Given the description of an element on the screen output the (x, y) to click on. 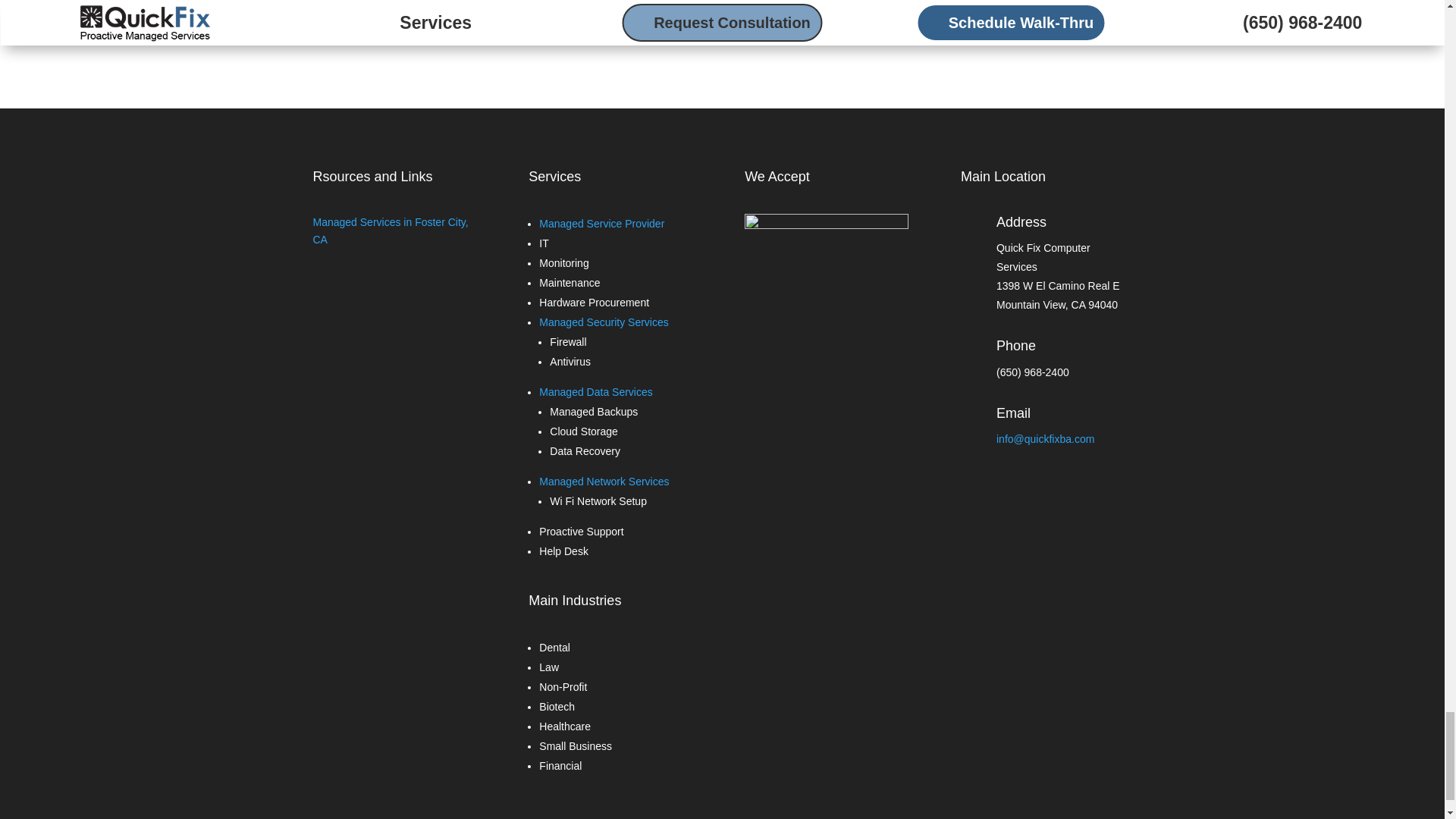
Managed Services in Foster City, CA (390, 231)
Managed Data Services (595, 391)
Managed Service Provider (600, 223)
Managed Security Services (603, 322)
Managed Network Services (603, 481)
createmixandmingle.com (619, 15)
